Given the description of an element on the screen output the (x, y) to click on. 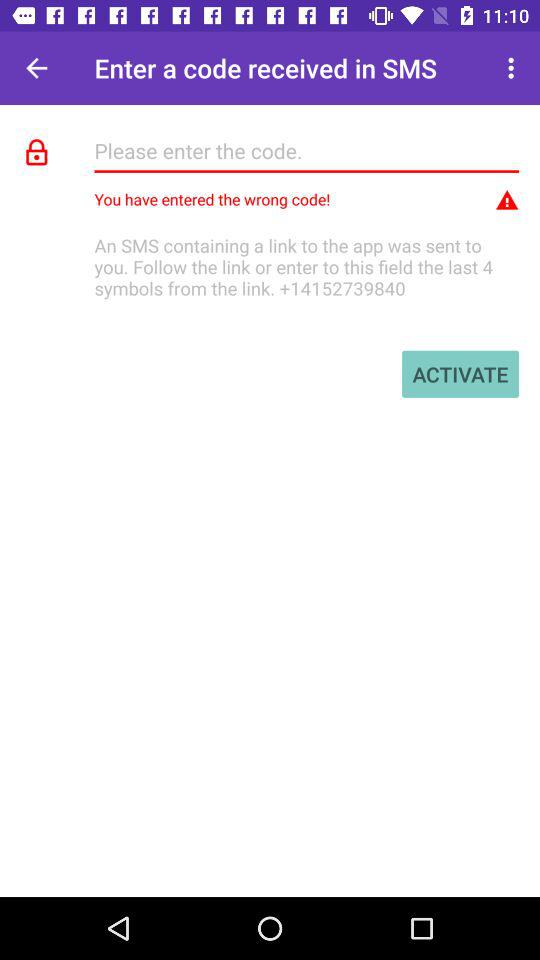
tap the item to the right of enter a code icon (513, 67)
